Given the description of an element on the screen output the (x, y) to click on. 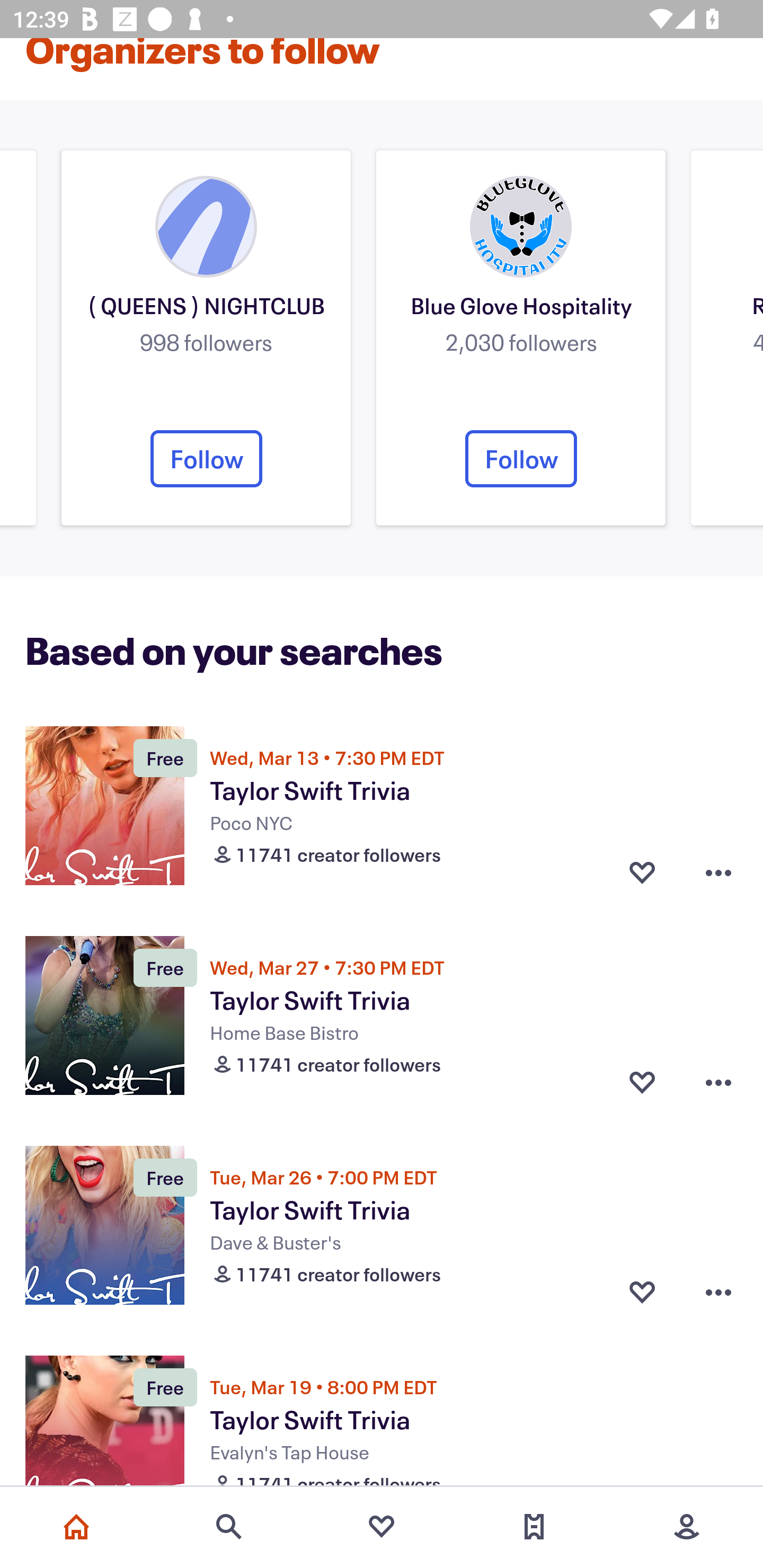
Follow Organizer's follow button (206, 458)
Follow Organizer's follow button (520, 458)
Favorite button (642, 872)
Overflow menu button (718, 872)
Favorite button (642, 1082)
Overflow menu button (718, 1082)
Favorite button (642, 1291)
Overflow menu button (718, 1291)
Home (76, 1526)
Search events (228, 1526)
Favorites (381, 1526)
Tickets (533, 1526)
More (686, 1526)
